Given the description of an element on the screen output the (x, y) to click on. 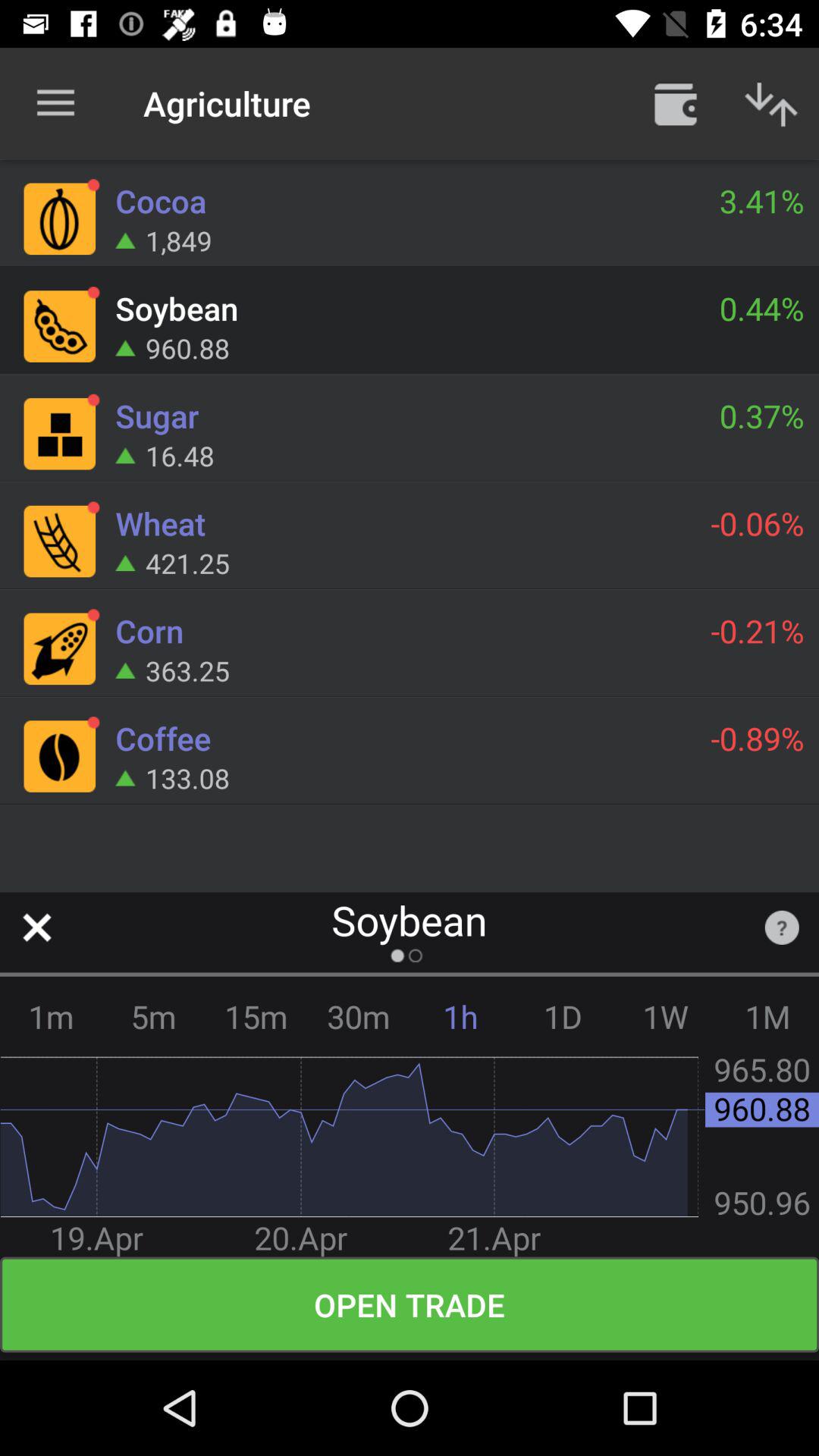
portfolio section (675, 103)
